Given the description of an element on the screen output the (x, y) to click on. 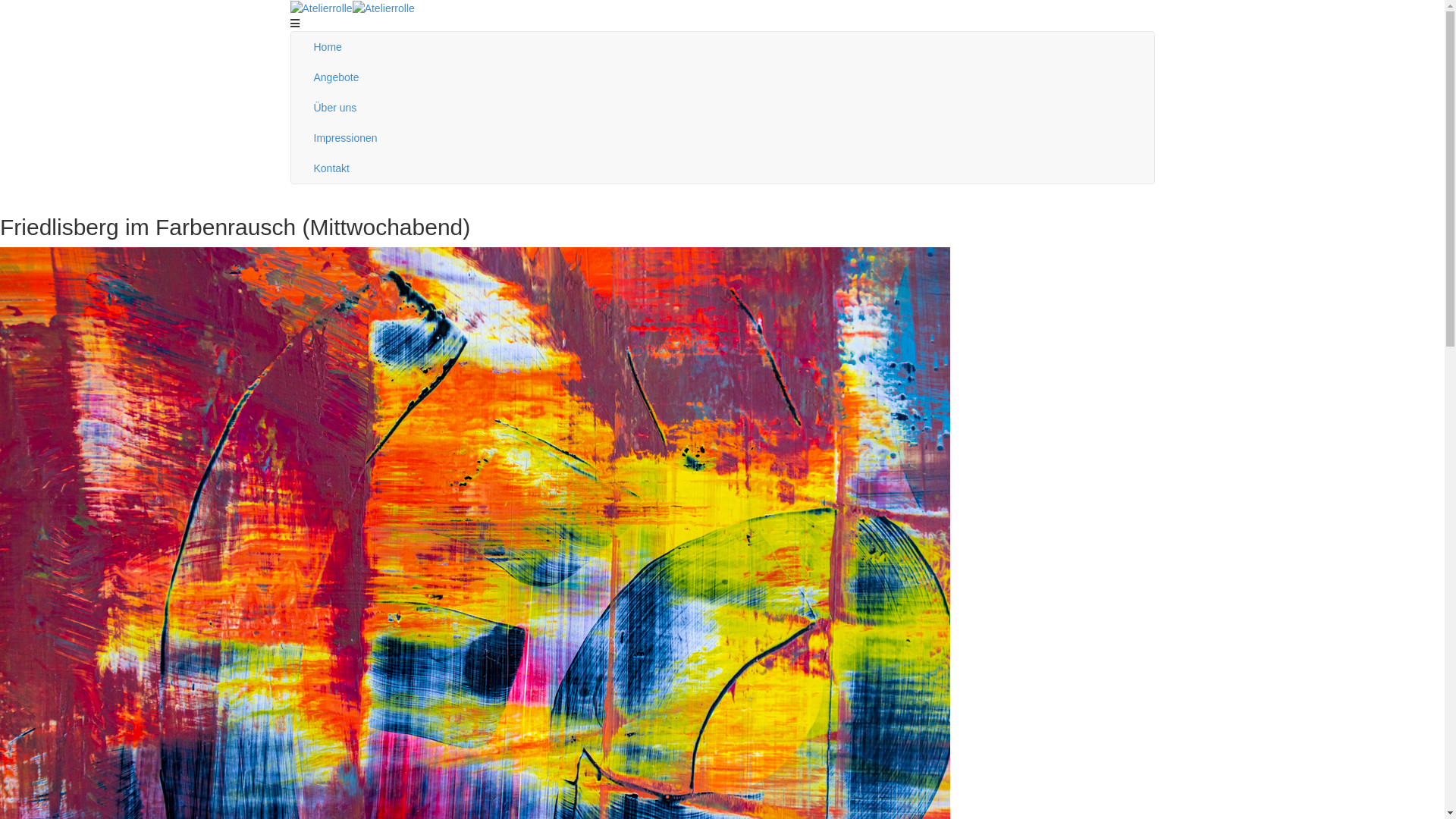
Impressionen Element type: text (721, 137)
Angebote Element type: text (721, 77)
Home Element type: text (721, 46)
Kontakt Element type: text (721, 168)
